Given the description of an element on the screen output the (x, y) to click on. 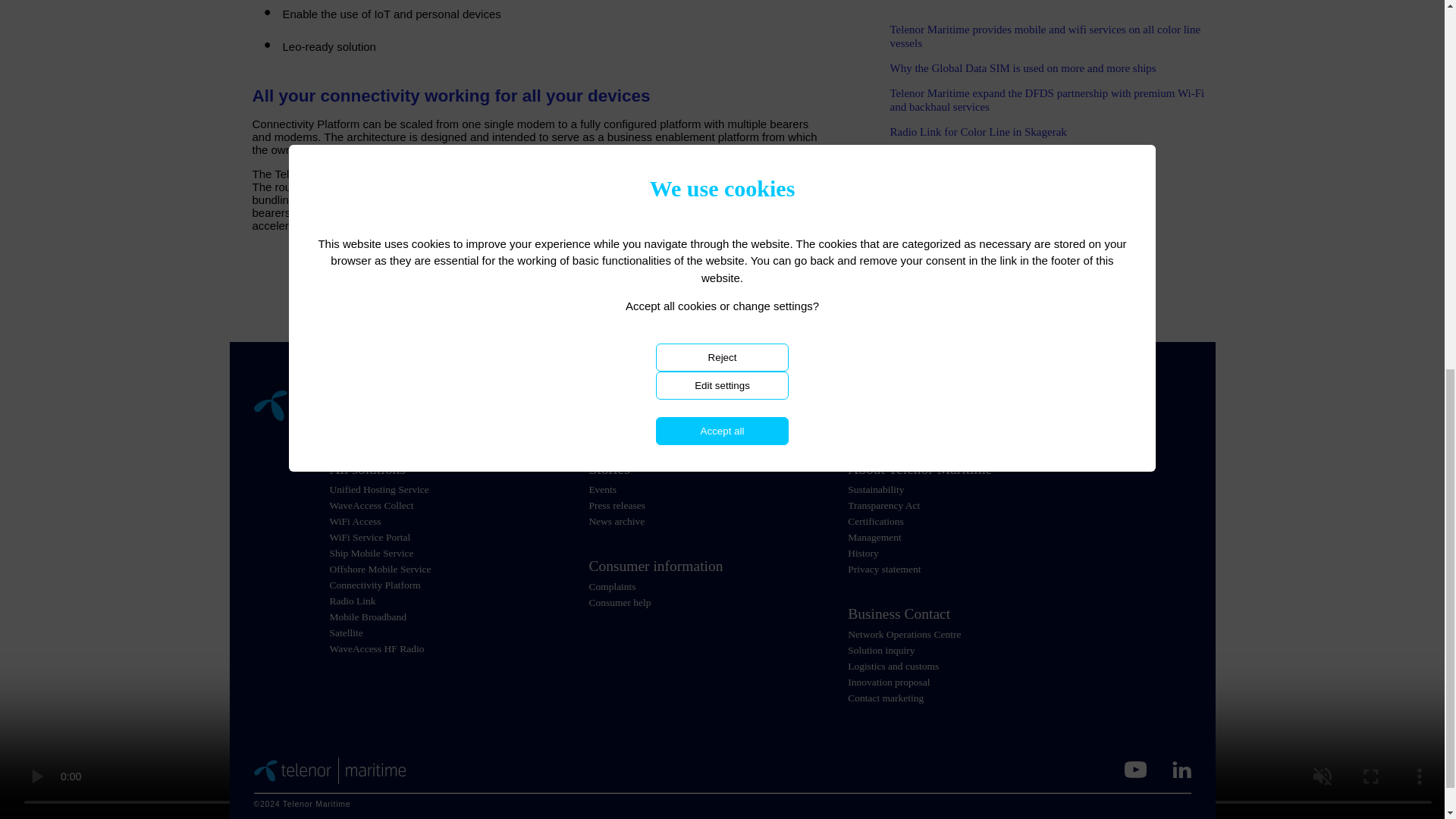
Radio Link for Color Line in Skagerak (978, 132)
Visit Telenor Maritime on Youtube (1134, 769)
Visit Telenor Maritime on LinkedIn (1181, 769)
Unified Hosting Service (378, 489)
WaveAccess Collect (371, 505)
All solutions (458, 469)
Telenor Maritime - Leading the digital transformation at sea (328, 770)
Why the Global Data SIM is used on more and more ships (1022, 68)
WiFi Access (354, 521)
